Given the description of an element on the screen output the (x, y) to click on. 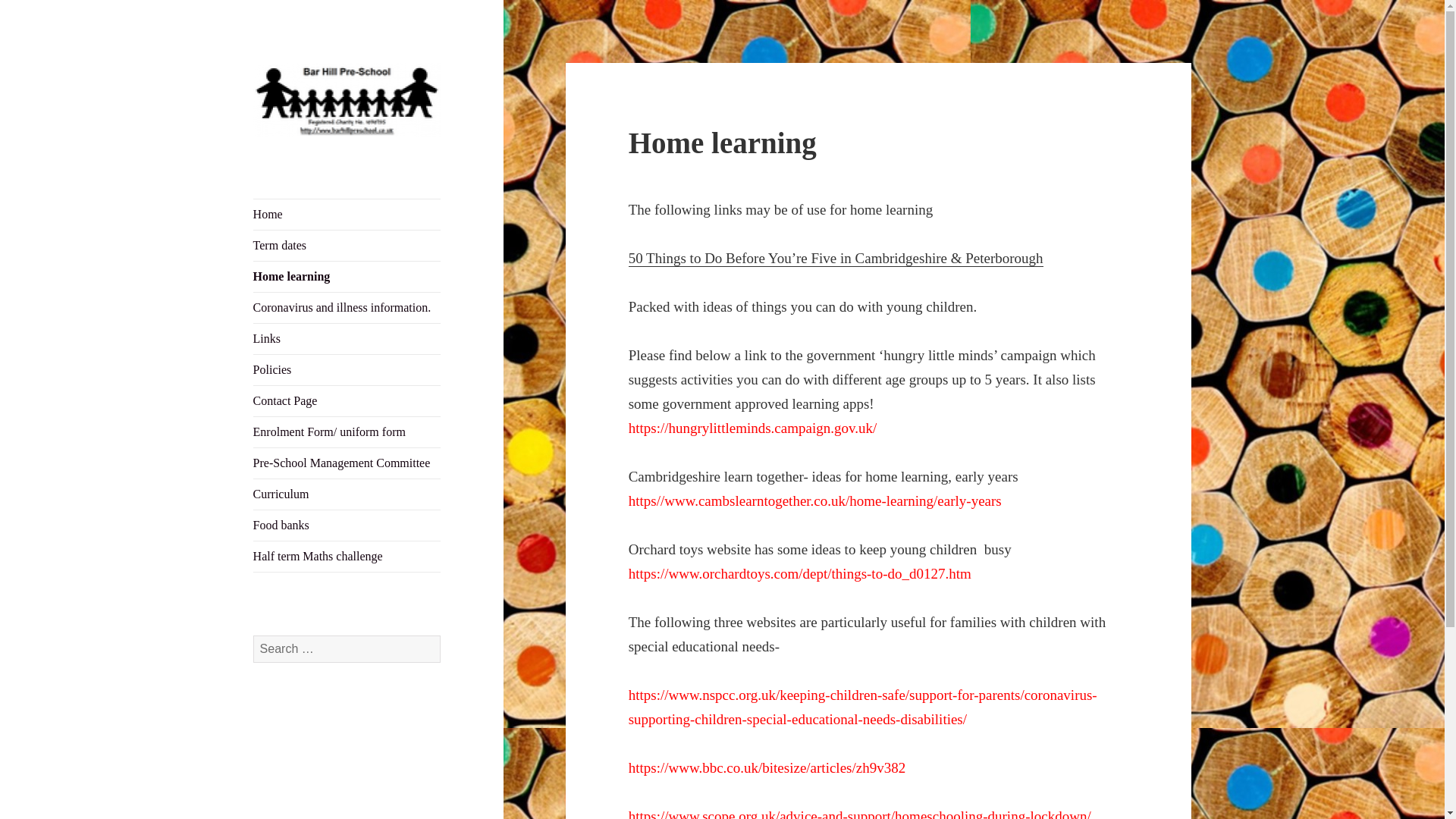
Policies (347, 369)
Bar Hill Pre-School (346, 160)
Curriculum (347, 494)
Home learning (347, 276)
Contact Page (347, 400)
Links (347, 338)
Pre-School Management Committee (347, 462)
Term dates (347, 245)
Coronavirus and illness information. (347, 307)
Food banks (347, 525)
Home (347, 214)
Half term Maths challenge (347, 556)
